Given the description of an element on the screen output the (x, y) to click on. 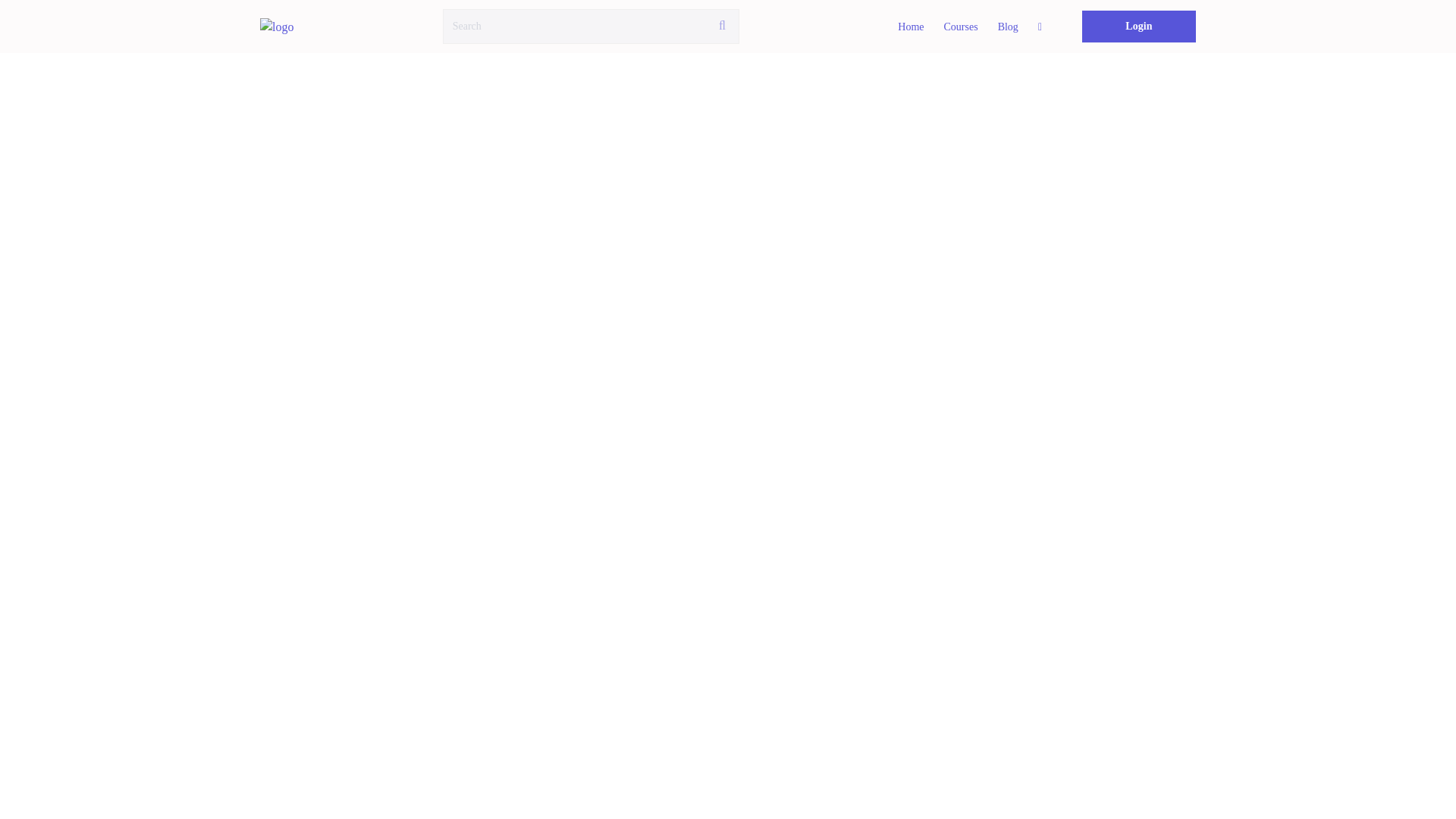
Home (910, 26)
Login (1138, 26)
Courses (961, 26)
Blog (1007, 26)
